Given the description of an element on the screen output the (x, y) to click on. 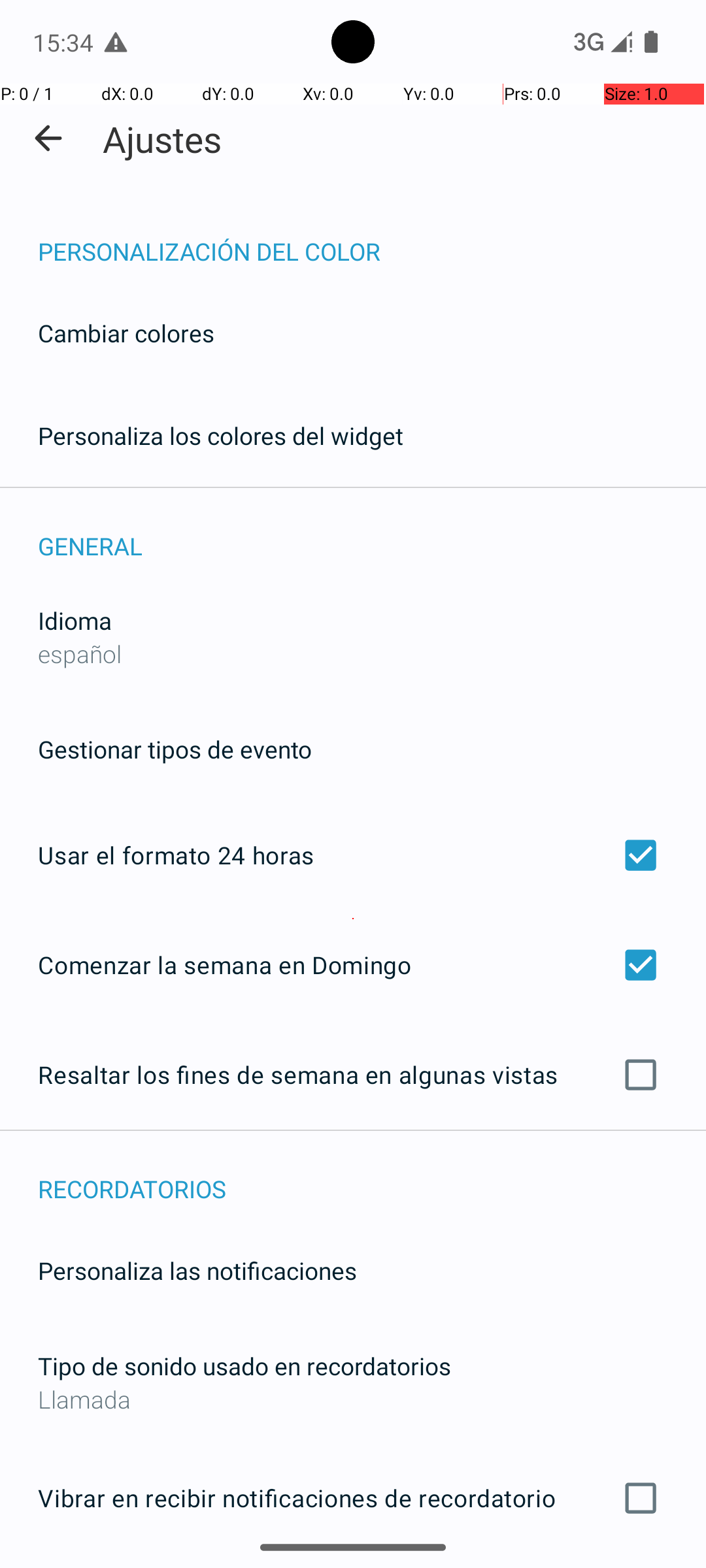
PERSONALIZACIÓN DEL COLOR Element type: android.widget.TextView (371, 237)
GENERAL Element type: android.widget.TextView (371, 532)
RECORDATORIOS Element type: android.widget.TextView (371, 1174)
Cambiar colores Element type: android.widget.TextView (125, 332)
Personaliza los colores del widget Element type: android.widget.TextView (220, 435)
Idioma Element type: android.widget.TextView (74, 620)
español Element type: android.widget.TextView (79, 653)
Gestionar tipos de evento Element type: android.widget.TextView (174, 748)
Usar el formato 24 horas Element type: android.widget.CheckBox (352, 855)
Comenzar la semana en Domingo Element type: android.widget.CheckBox (352, 964)
Resaltar los fines de semana en algunas vistas Element type: android.widget.CheckBox (352, 1074)
Personaliza las notificaciones Element type: android.widget.TextView (196, 1270)
Tipo de sonido usado en recordatorios Element type: android.widget.TextView (244, 1365)
Llamada Element type: android.widget.TextView (352, 1398)
Vibrar en recibir notificaciones de recordatorio Element type: android.widget.CheckBox (352, 1497)
Repetir recordatorios hasta ser descartados Element type: android.widget.CheckBox (352, 1567)
